Given the description of an element on the screen output the (x, y) to click on. 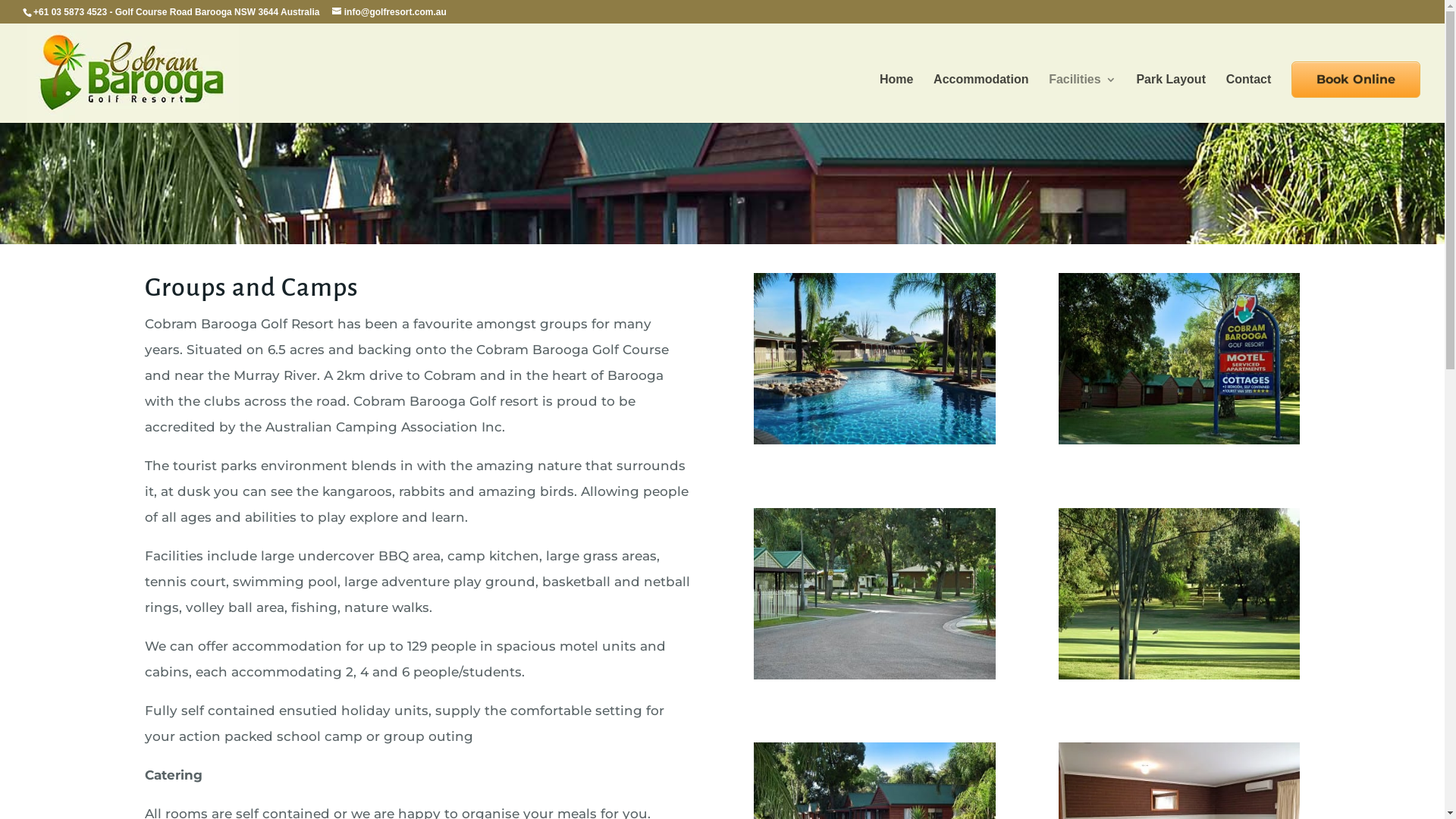
delcottage5 Element type: hover (1178, 674)
Accommodation Element type: text (980, 98)
Park Layout Element type: text (1170, 98)
Home Element type: text (896, 98)
Contact Element type: text (1248, 98)
facil4 Element type: hover (1178, 439)
facil2 Element type: hover (873, 439)
Facilities Element type: text (1081, 98)
sites1 Element type: hover (873, 674)
Book Online Element type: text (1355, 79)
+61 03 5873 4523 Element type: text (69, 11)
info@golfresort.com.au Element type: text (389, 11)
